Given the description of an element on the screen output the (x, y) to click on. 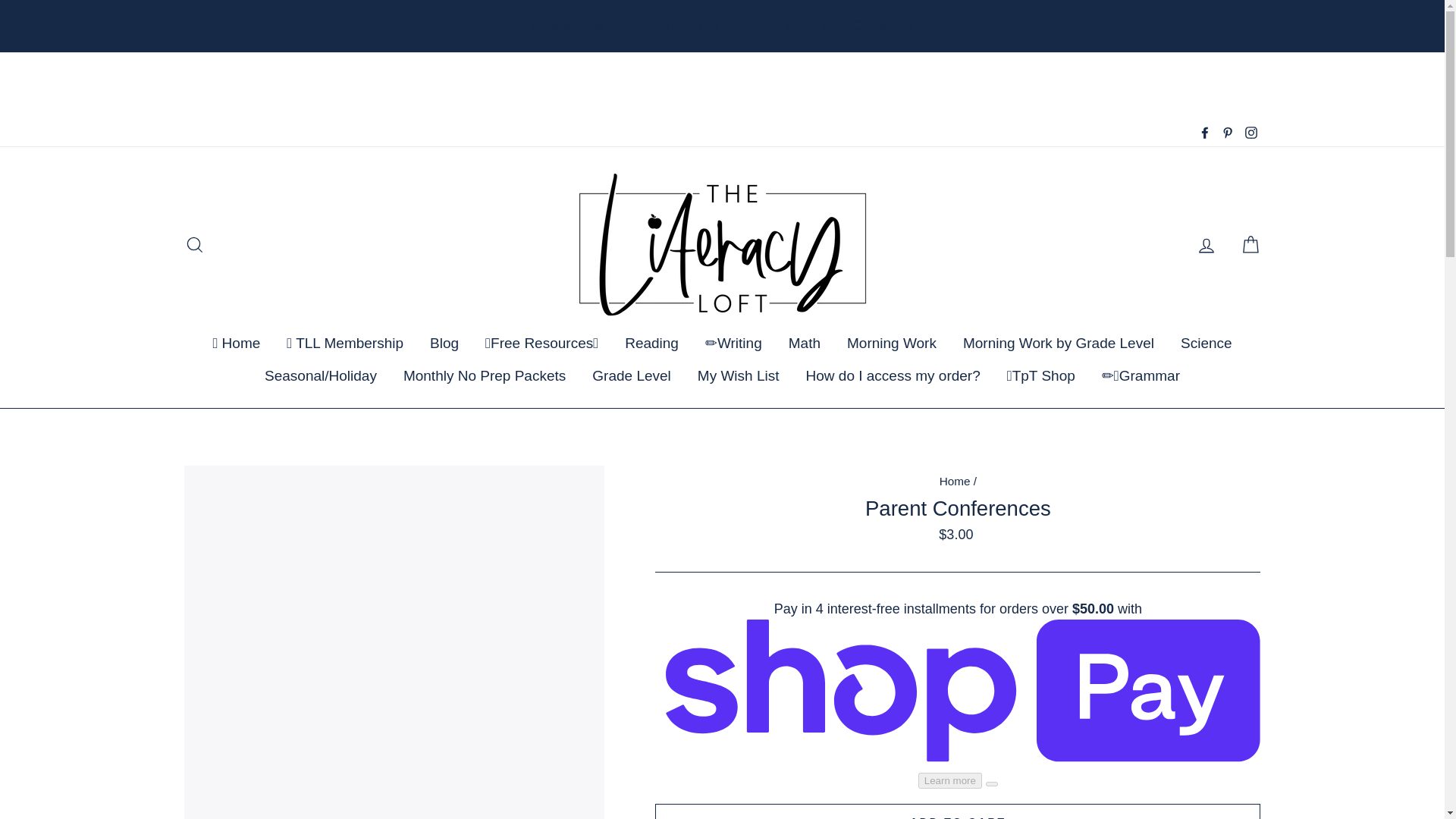
The Literacy Loft on Pinterest (1227, 133)
Back to the frontpage (955, 481)
The Literacy Loft on Instagram (1250, 133)
The Literacy Loft on Facebook (1204, 133)
